Given the description of an element on the screen output the (x, y) to click on. 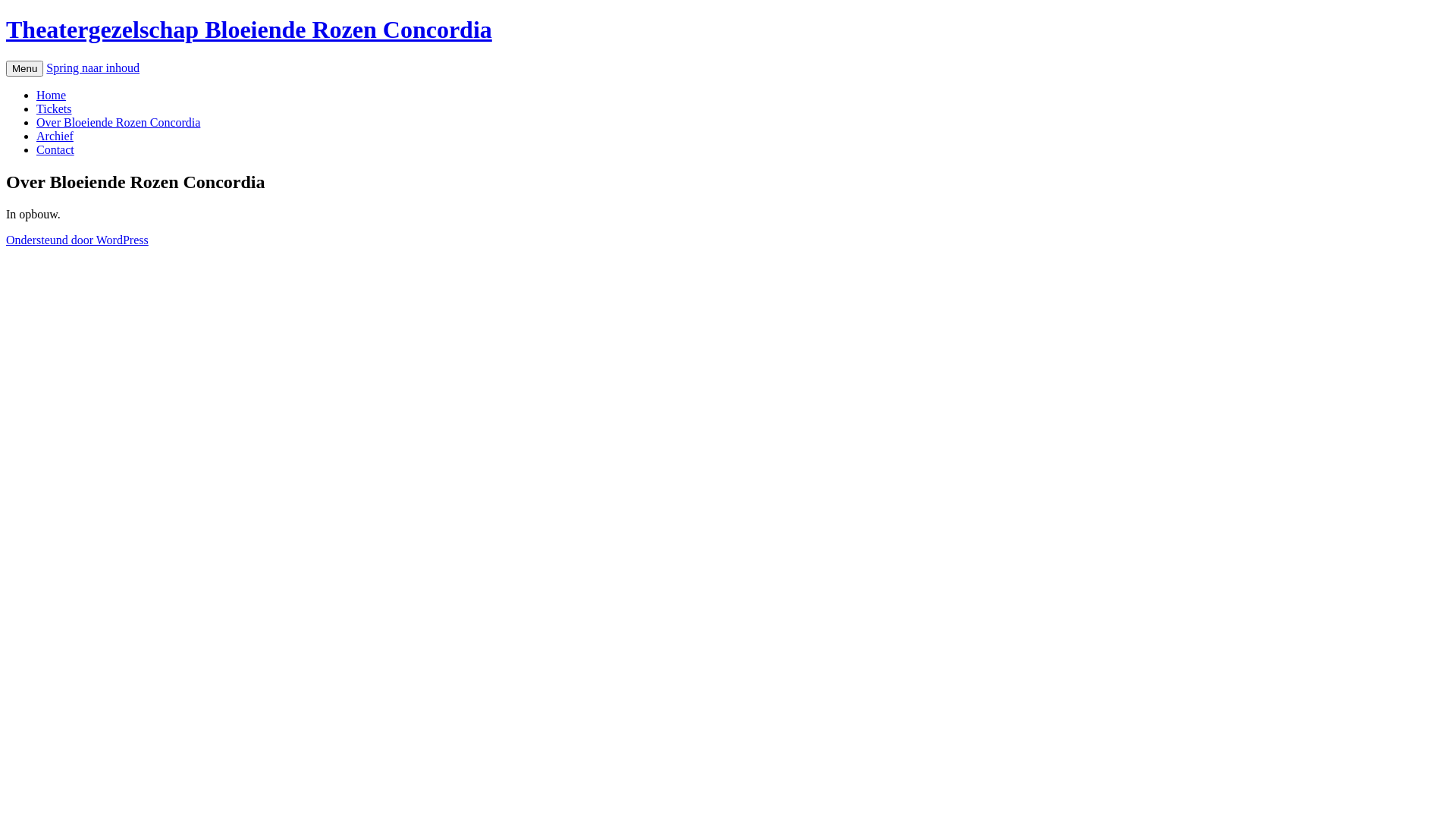
Tickets Element type: text (54, 108)
Over Bloeiende Rozen Concordia Element type: text (118, 122)
Archief Element type: text (54, 135)
Spring naar inhoud Element type: text (92, 67)
Contact Element type: text (55, 149)
Menu Element type: text (24, 68)
Theatergezelschap Bloeiende Rozen Concordia Element type: text (249, 29)
Home Element type: text (50, 94)
Ondersteund door WordPress Element type: text (77, 239)
